Given the description of an element on the screen output the (x, y) to click on. 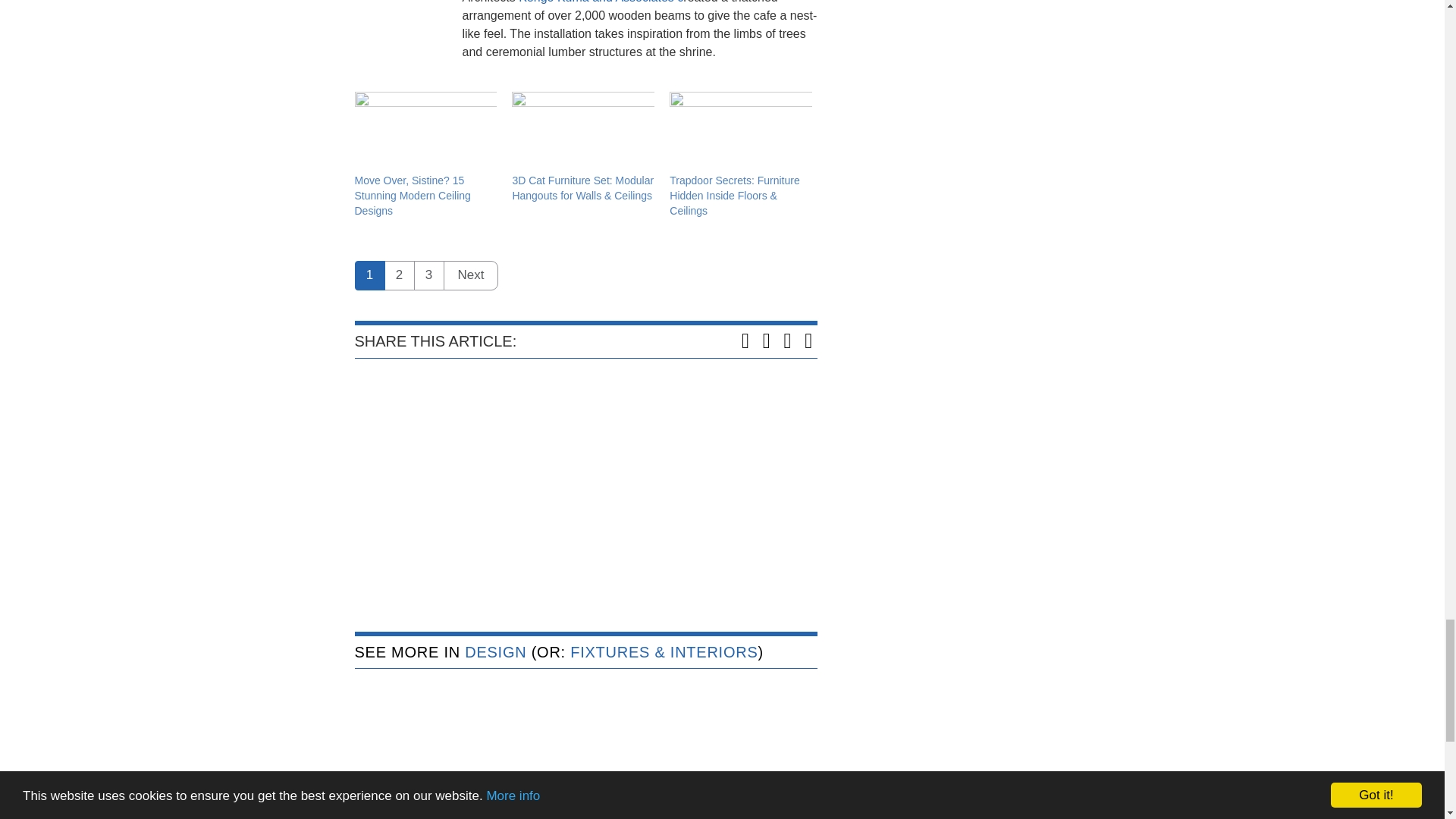
Kengo Kuma and Associates c (598, 2)
Move Over, Sistine? 15 Stunning Modern Ceiling Designs (412, 195)
Move Over, Sistine? 15 Stunning Modern Ceiling Designs (412, 195)
Move Over, Sistine? 15 Stunning Modern Ceiling Designs (426, 131)
